Given the description of an element on the screen output the (x, y) to click on. 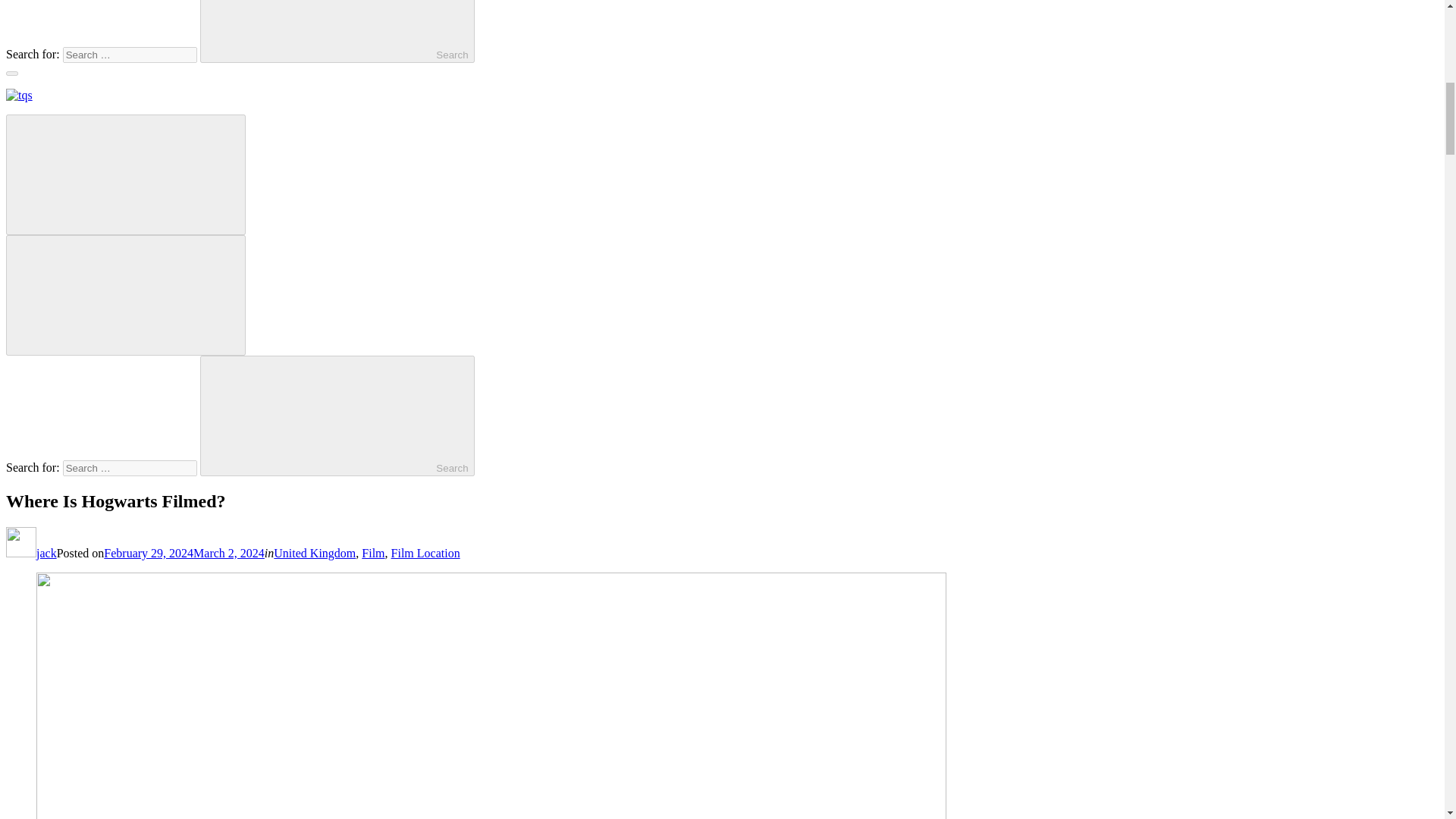
February 29, 2024March 2, 2024 (183, 553)
United Kingdom (314, 553)
Film Location (425, 553)
Search (337, 31)
jack (30, 553)
Film (372, 553)
Search (337, 415)
